Given the description of an element on the screen output the (x, y) to click on. 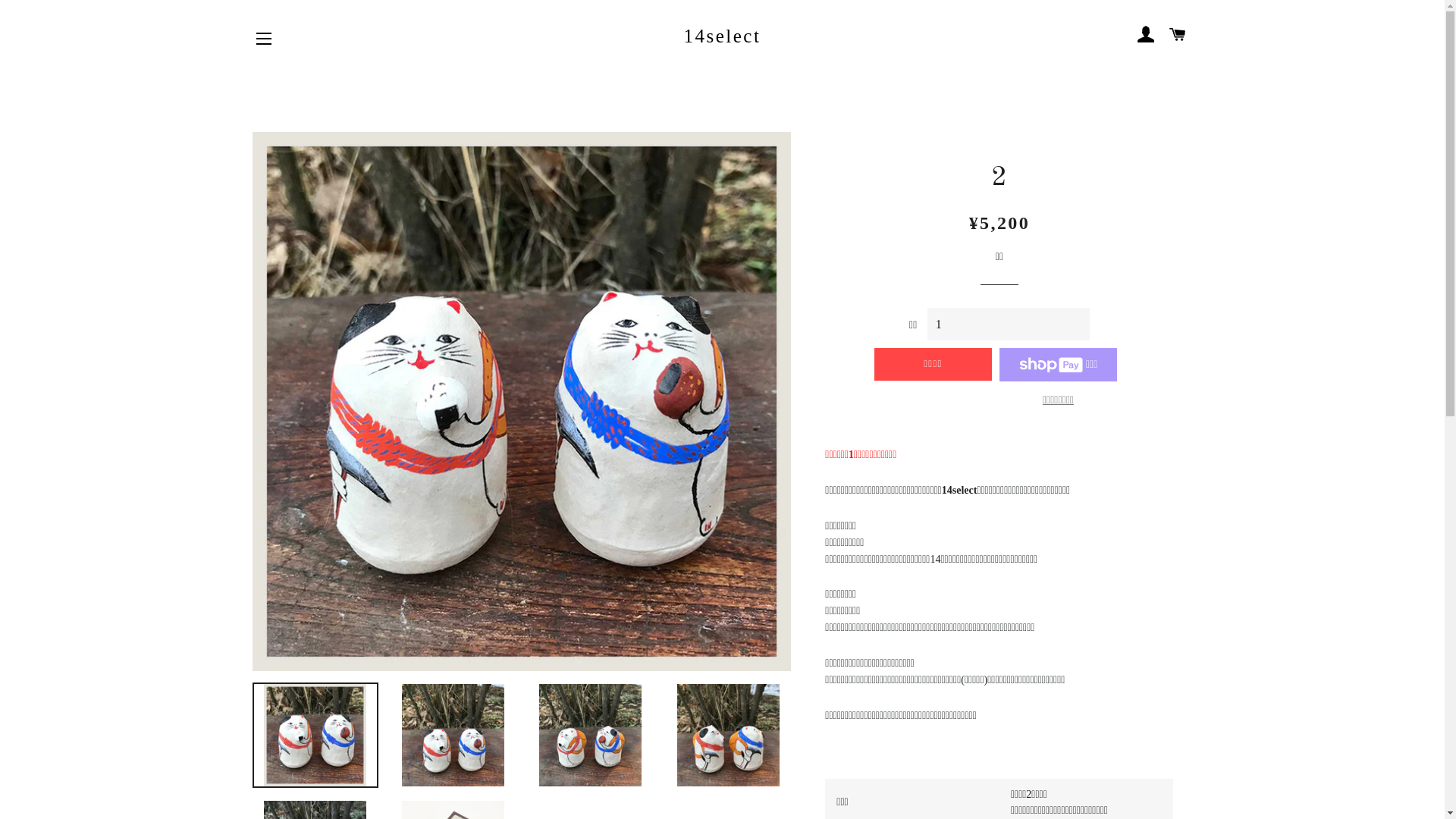
14select Element type: text (721, 35)
